Given the description of an element on the screen output the (x, y) to click on. 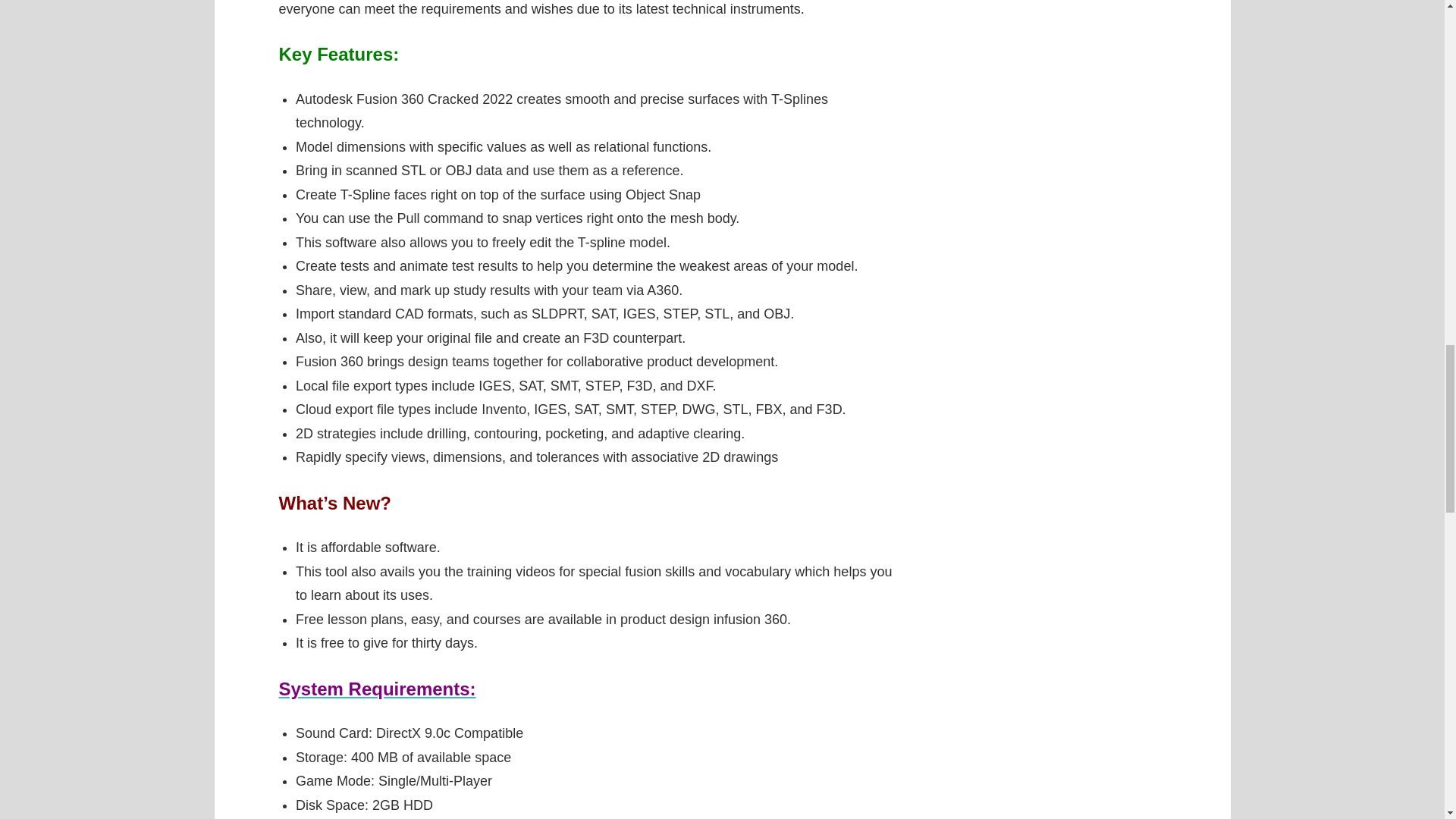
System Requirements: (377, 688)
